Given the description of an element on the screen output the (x, y) to click on. 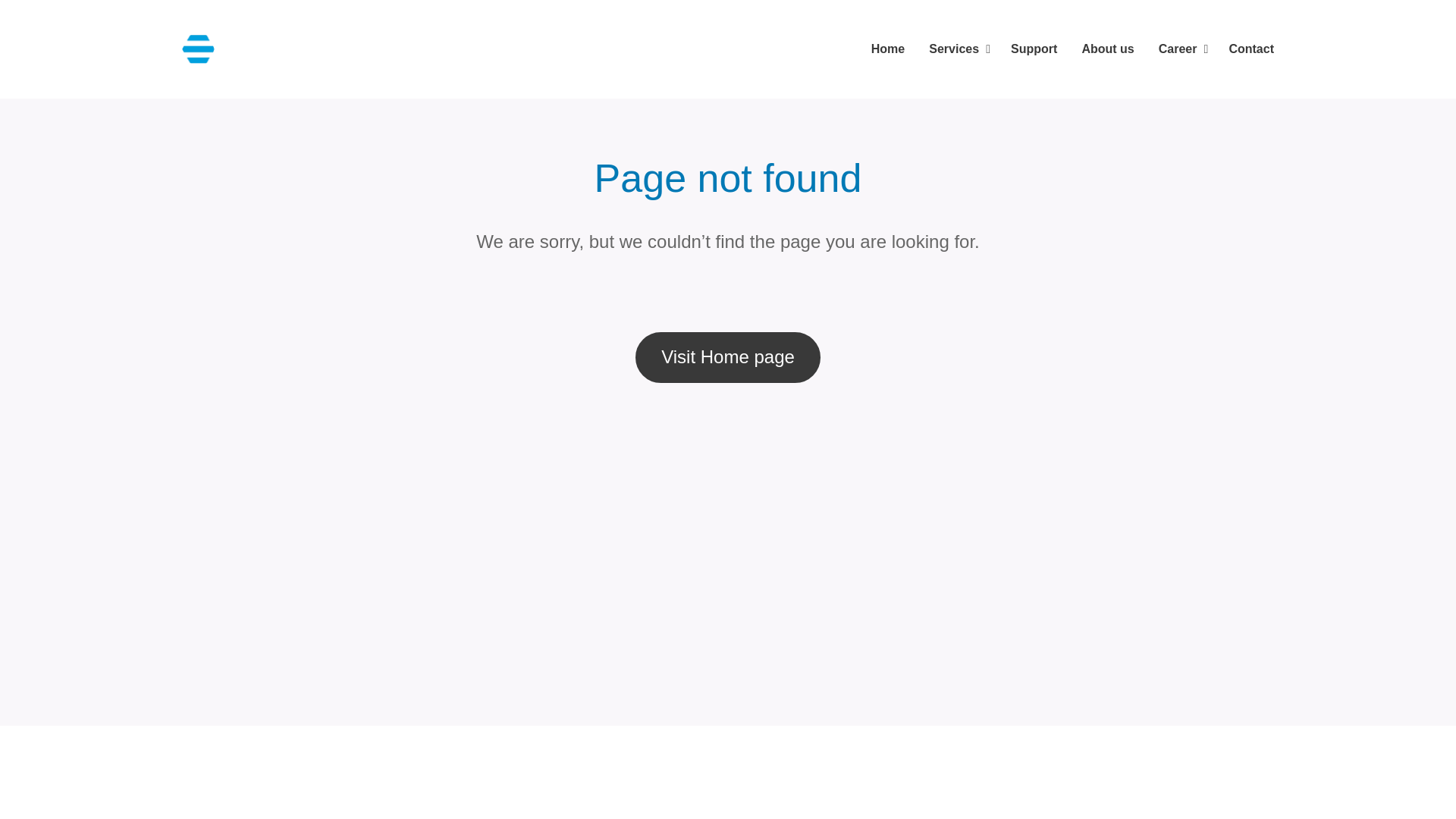
Home (892, 48)
Services (957, 48)
Support (1033, 48)
About us (1106, 48)
Visit Home page (727, 357)
Career (1182, 48)
Contact (1244, 48)
